Given the description of an element on the screen output the (x, y) to click on. 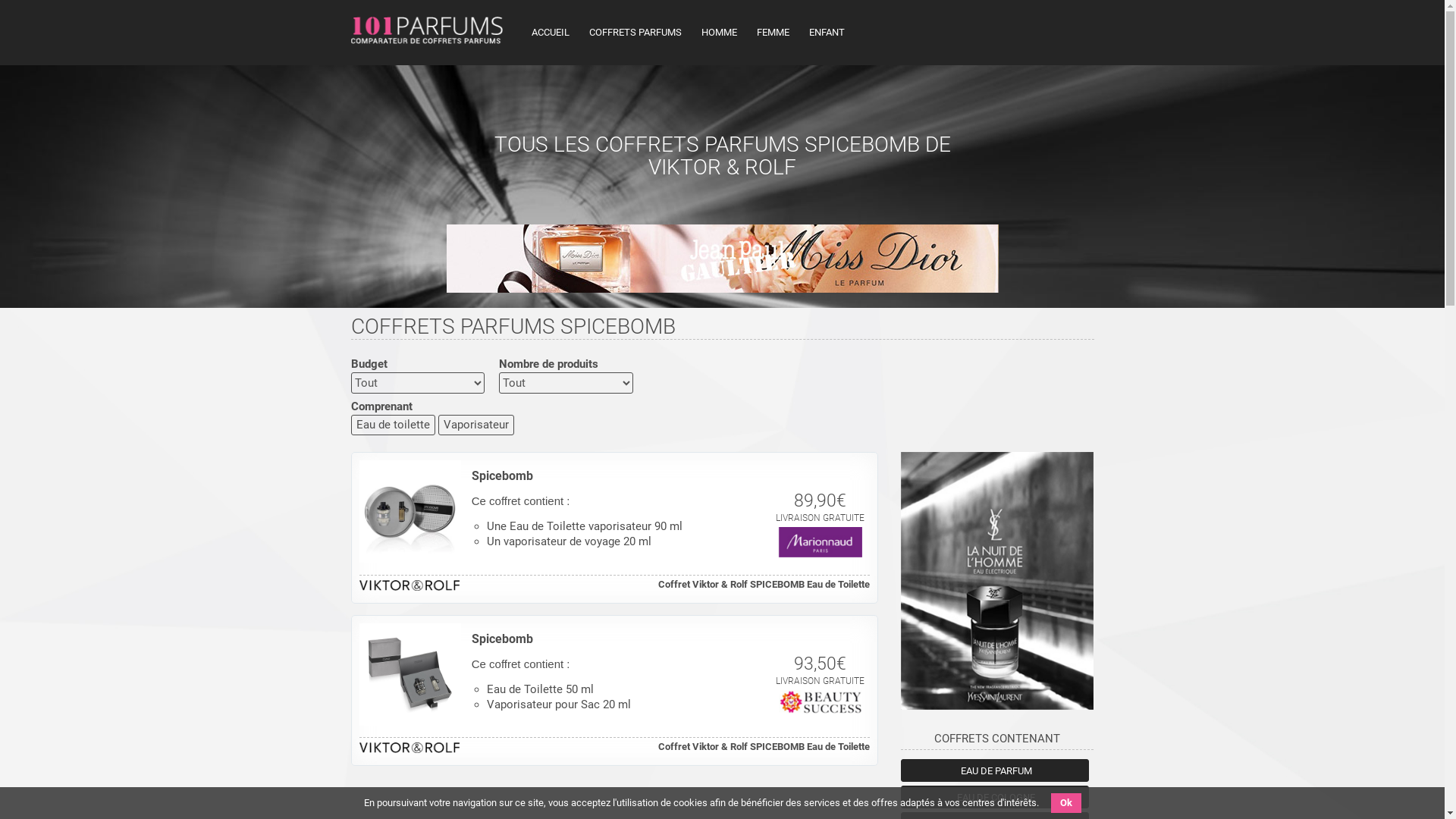
Miss Dior Element type: text (721, 260)
COFFRETS PARFUMS Element type: text (634, 32)
HOMME Element type: text (718, 32)
  Element type: text (849, 29)
ENFANT Element type: text (826, 32)
EAU DE PARFUM Element type: text (993, 770)
Aller au contenu Element type: text (524, 20)
FEMME Element type: text (772, 32)
ACCUEIL Element type: text (549, 32)
EAU DE COLOGNE Element type: text (993, 796)
Ok Element type: text (1066, 802)
La Nuit de L'Homme Element type: text (997, 582)
